Given the description of an element on the screen output the (x, y) to click on. 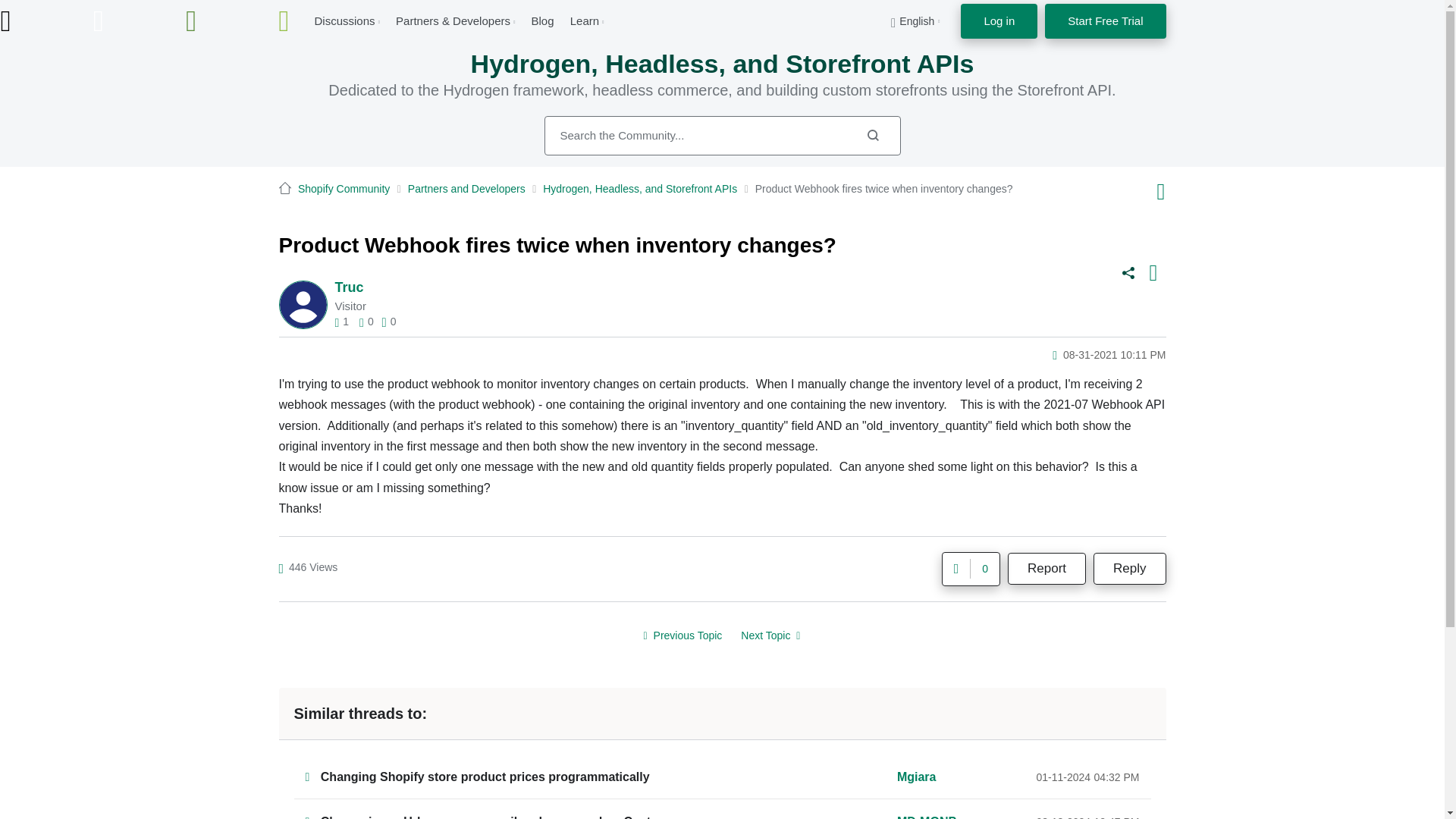
Search (872, 135)
Discussions (344, 20)
Search (722, 135)
Search (872, 135)
